Given the description of an element on the screen output the (x, y) to click on. 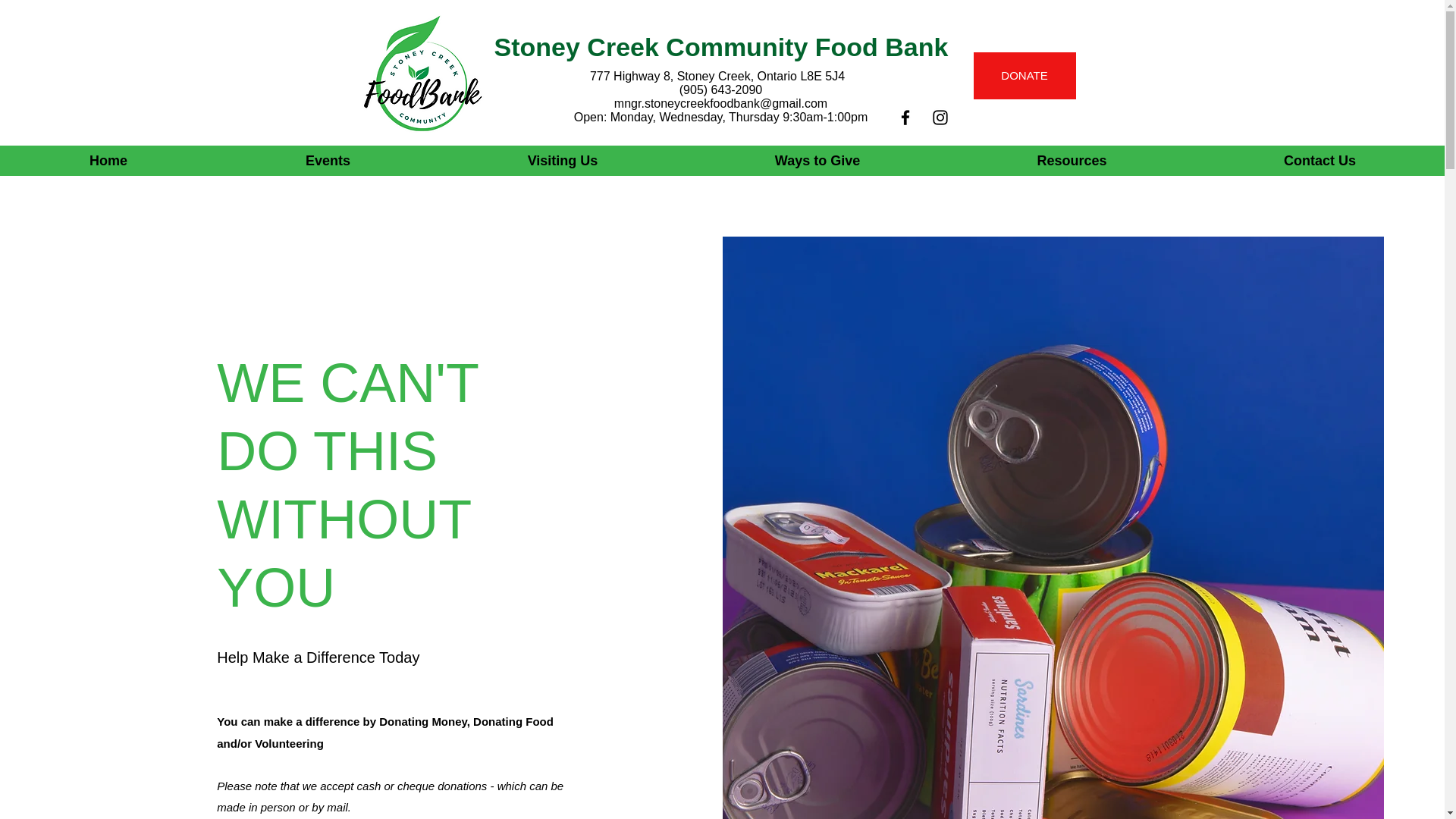
Visiting Us (562, 160)
Home (108, 160)
DONATE (1024, 75)
Ways to Give (817, 160)
Resources (1072, 160)
Events (327, 160)
